Given the description of an element on the screen output the (x, y) to click on. 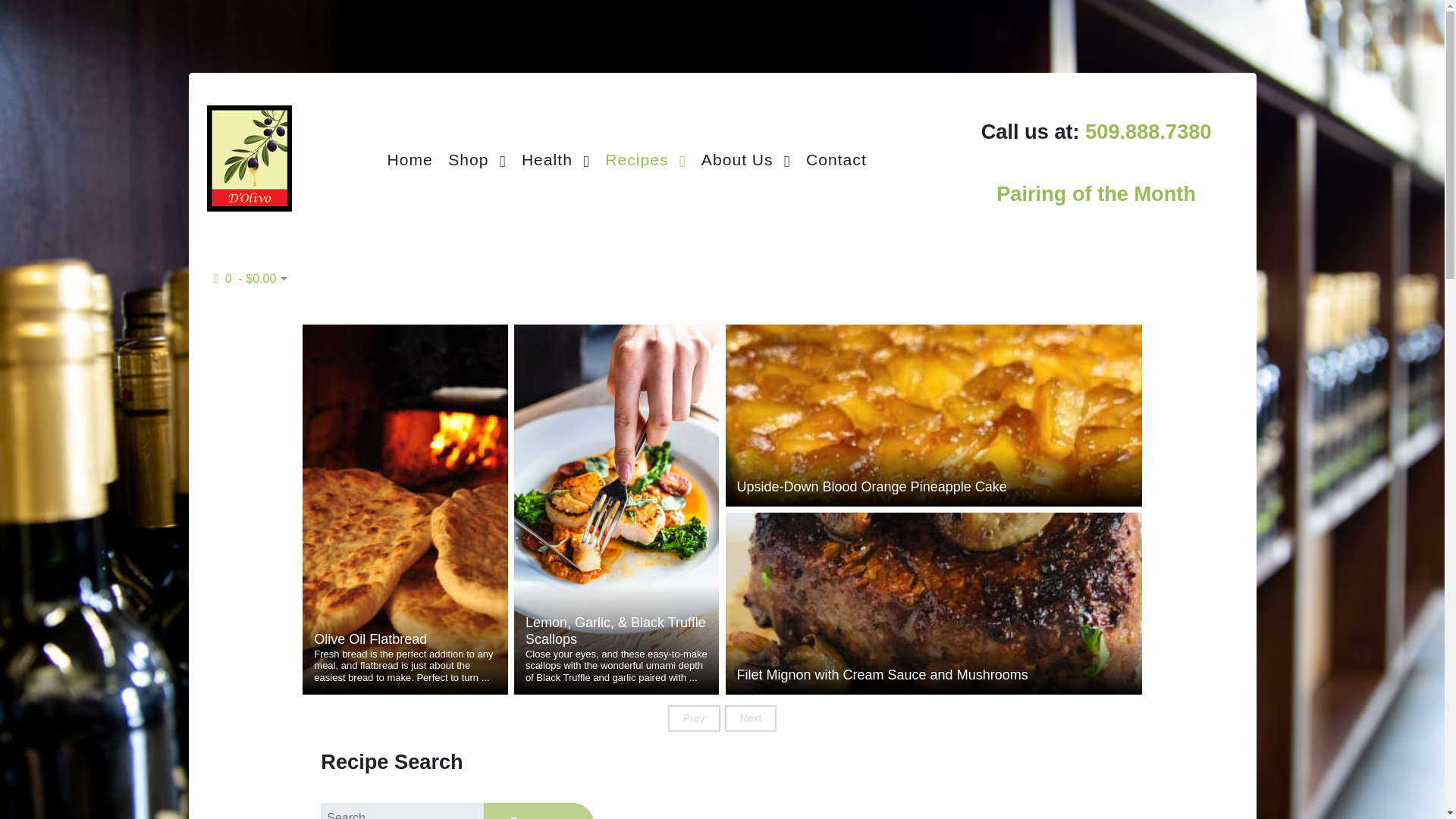
Olive Oil Flatbread (405, 639)
Filet Mignon with Cream Sauce and Mushrooms (933, 675)
Contact (835, 158)
Next (751, 718)
Contact (835, 158)
Upside-Down Blood Orange Pineapple Cake (933, 487)
Search (538, 811)
Pairing of the Month (1095, 193)
Home (409, 158)
509.888.7380 (1147, 146)
Shop (477, 158)
Prev (694, 718)
